Given the description of an element on the screen output the (x, y) to click on. 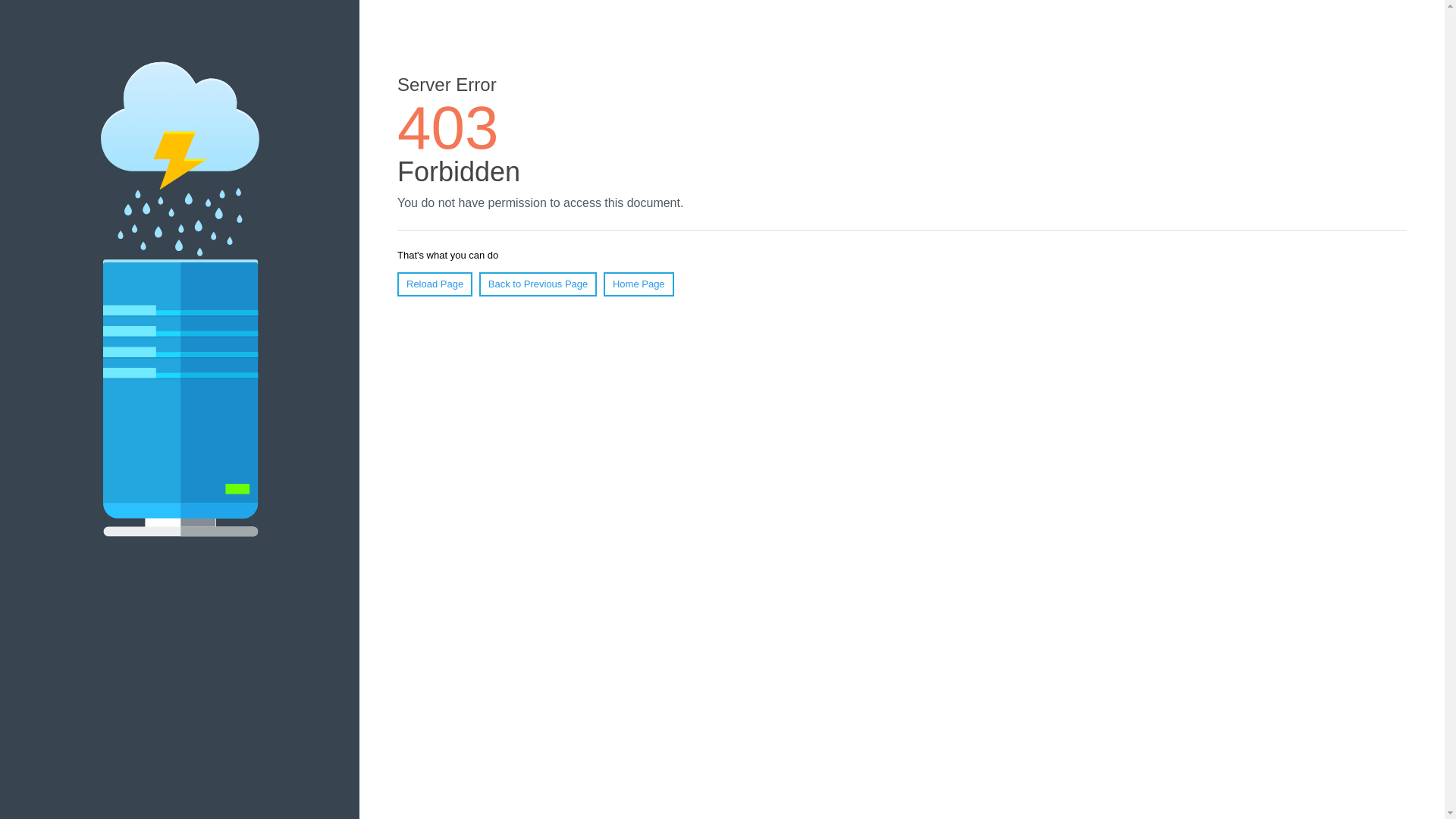
Back to Previous Page Element type: text (538, 284)
Reload Page Element type: text (434, 284)
Home Page Element type: text (638, 284)
